Given the description of an element on the screen output the (x, y) to click on. 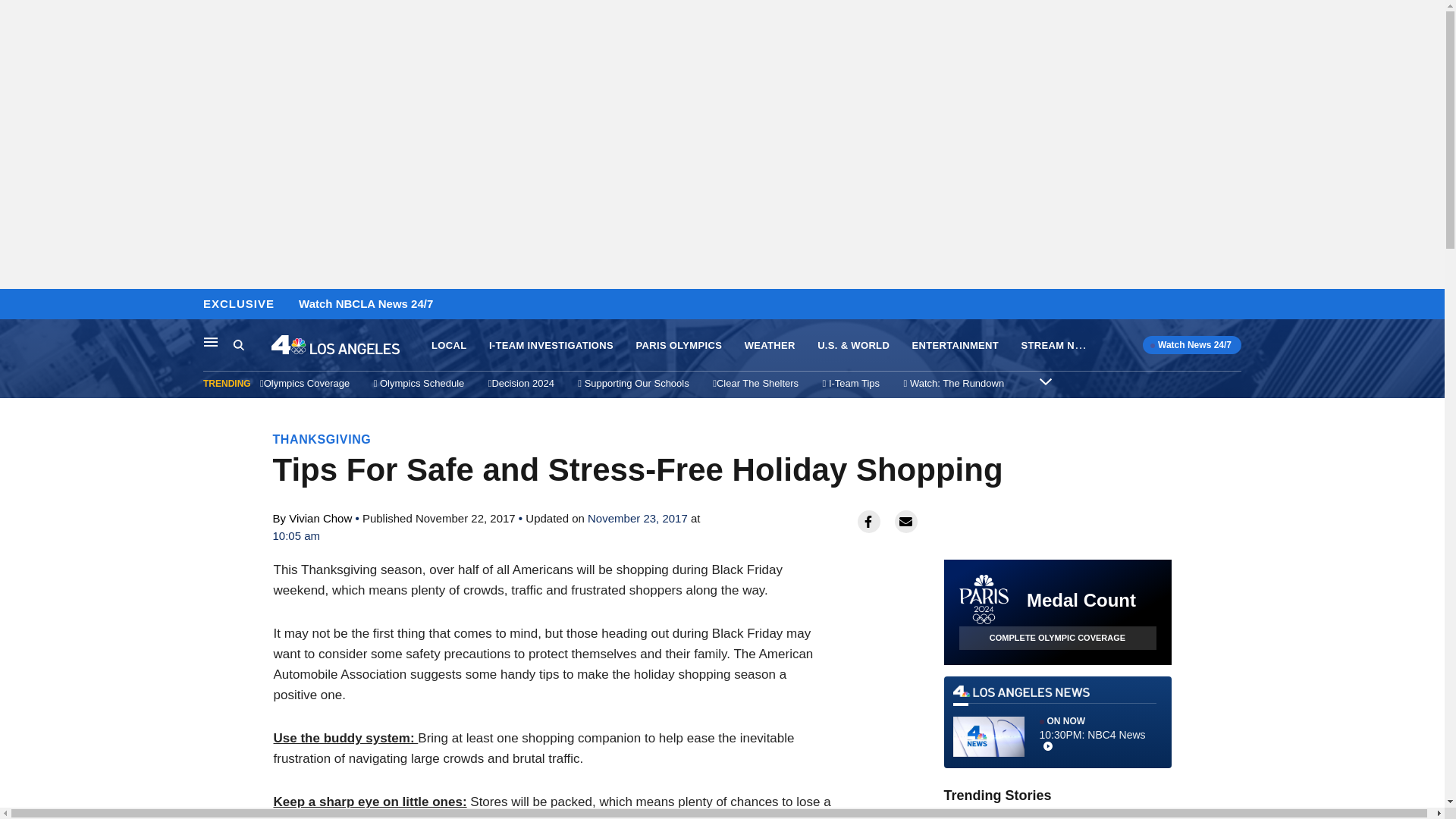
HUNTINGTON BEACH (1066, 816)
I-TEAM INVESTIGATIONS (550, 345)
COMPLETE OLYMPIC COVERAGE (1057, 638)
Main Navigation (210, 341)
Search (252, 345)
Search (238, 344)
ENTERTAINMENT (955, 345)
PARIS OLYMPICS (678, 345)
Expand (1045, 381)
WEATHER (769, 345)
